Given the description of an element on the screen output the (x, y) to click on. 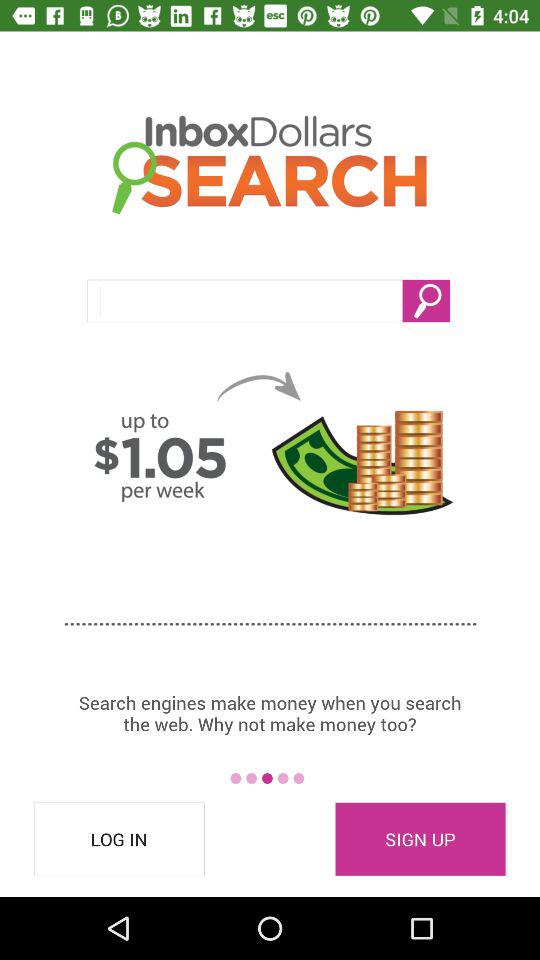
press the icon next to log in icon (420, 839)
